Given the description of an element on the screen output the (x, y) to click on. 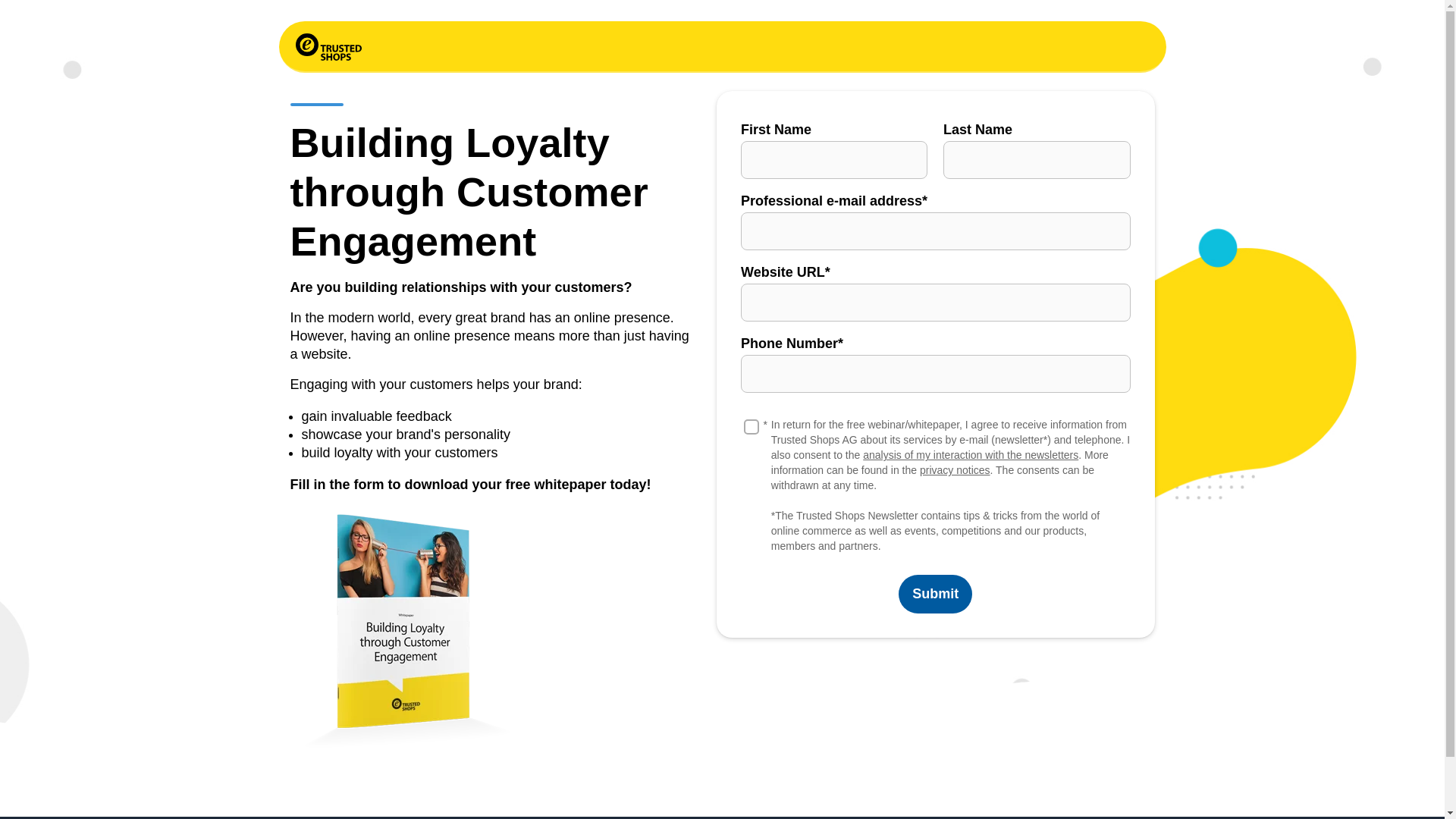
analysis of my interaction with the newsletters (970, 454)
Submit (935, 593)
Submit (935, 593)
privacy notices (955, 469)
